Given the description of an element on the screen output the (x, y) to click on. 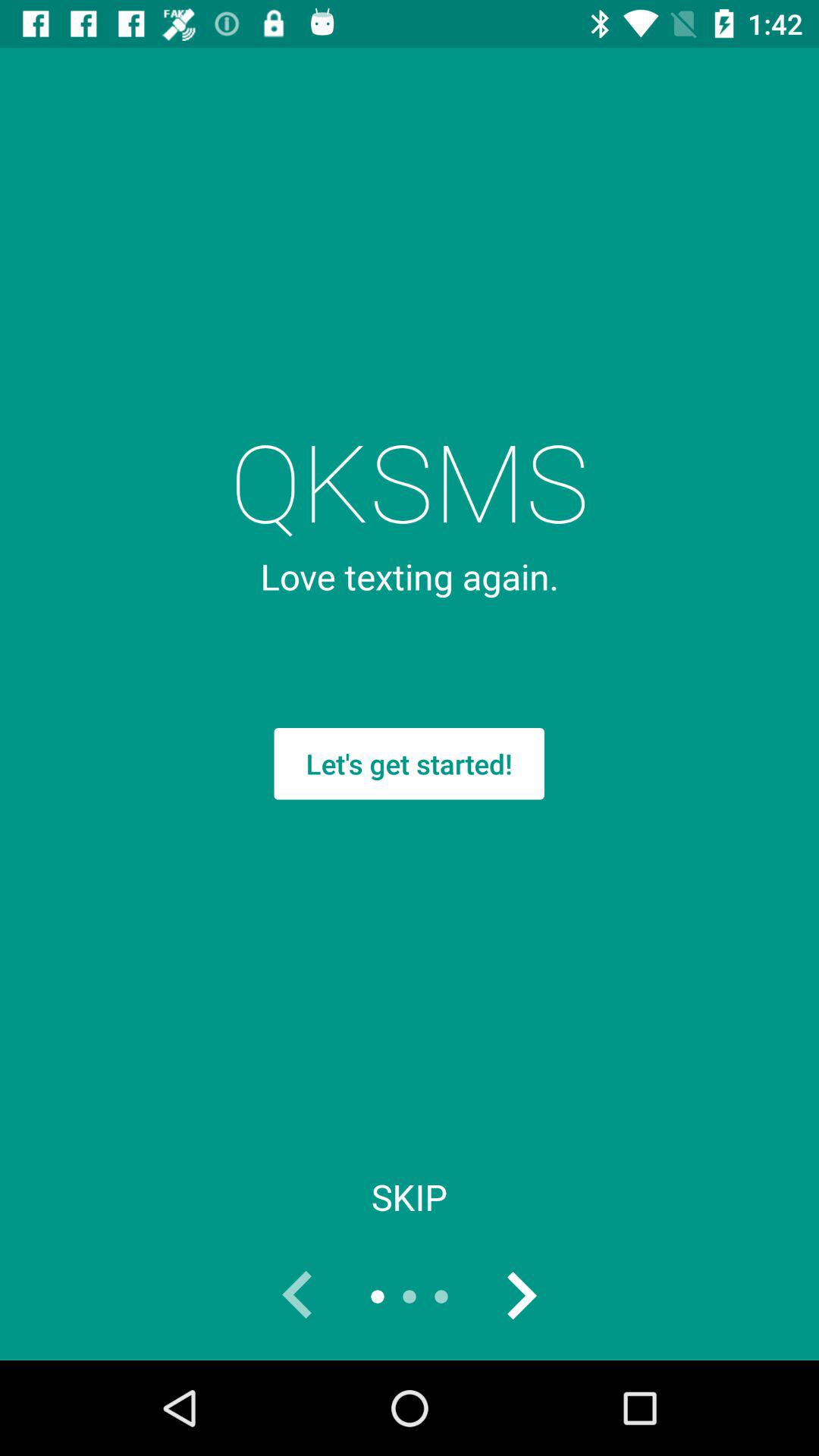
go to previous (297, 1296)
